Given the description of an element on the screen output the (x, y) to click on. 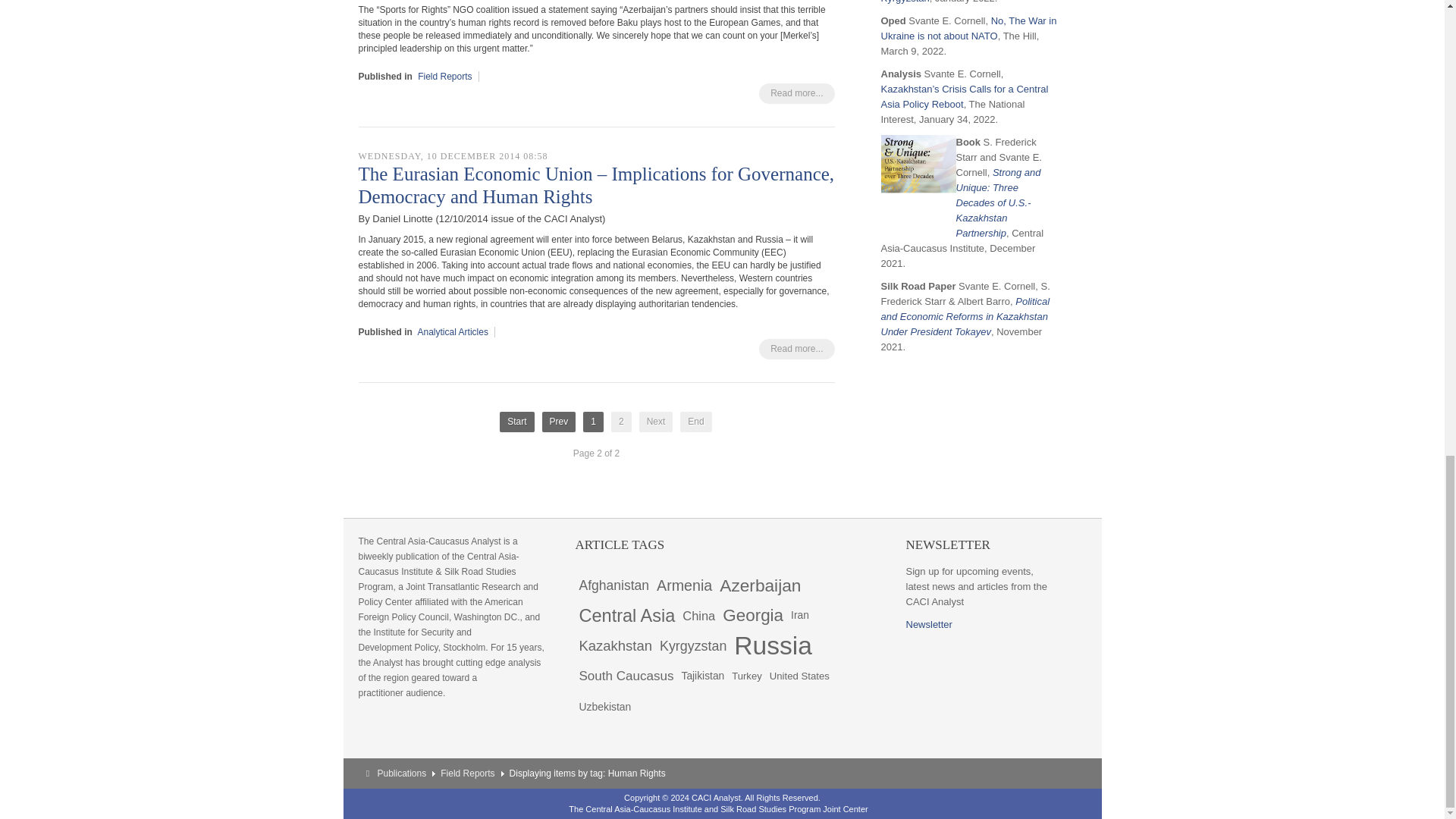
Read more... (796, 93)
Start (516, 421)
Prev (558, 421)
Field Reports (444, 76)
Next (655, 421)
70 items tagged with Tajikistan (702, 675)
Prev (558, 421)
175 items tagged with Azerbaijan (760, 585)
114 items tagged with Afghanistan (613, 585)
1 (593, 421)
109 items tagged with South Caucasus (626, 675)
End (695, 421)
139 items tagged with Armenia (684, 585)
118 items tagged with Kyrgyzstan (693, 645)
171 items tagged with Georgia (753, 615)
